Given the description of an element on the screen output the (x, y) to click on. 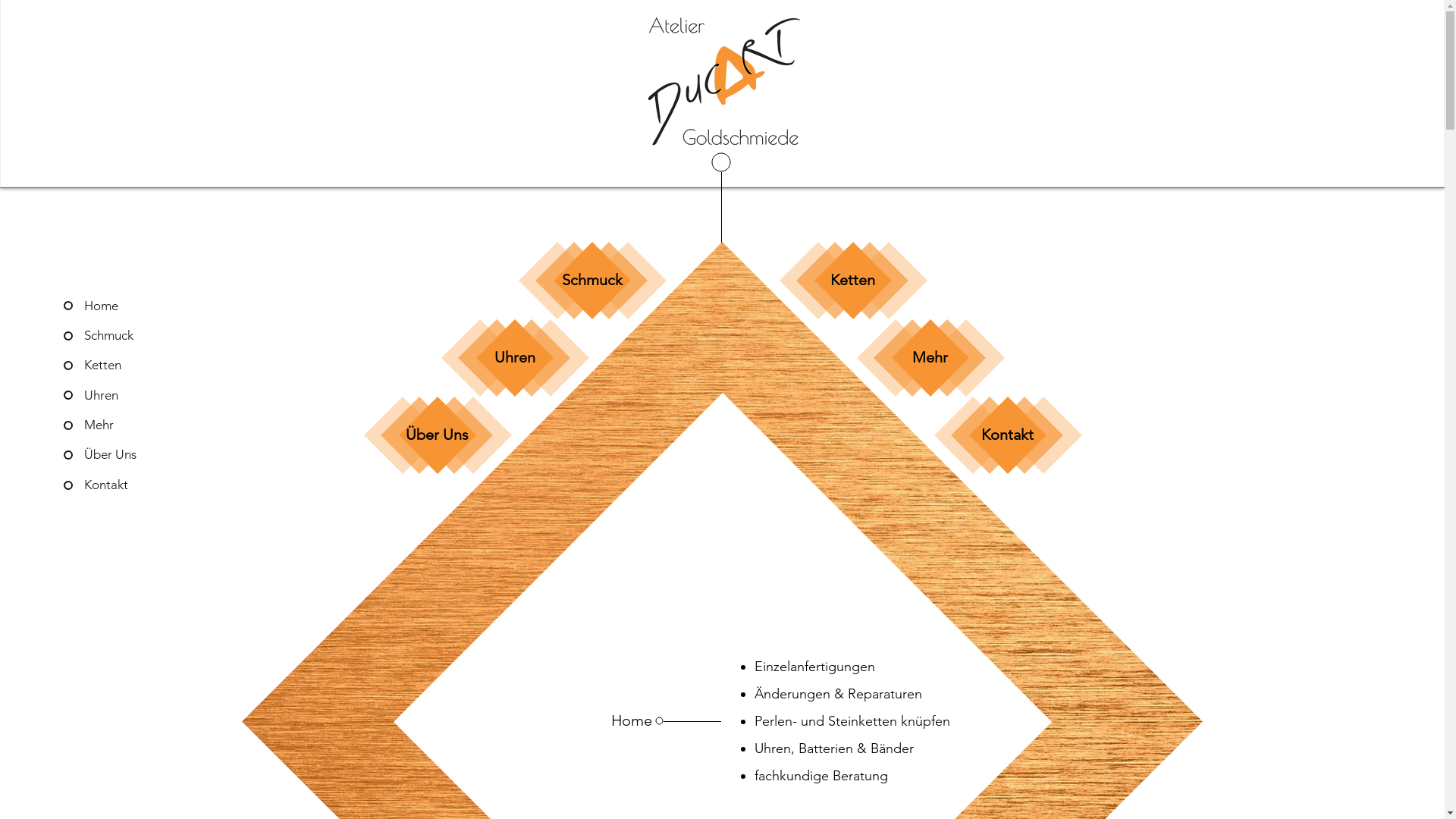
Mehr Element type: text (146, 425)
Ketten Element type: text (146, 365)
Ketten Element type: text (852, 278)
Schmuck Element type: text (146, 335)
Schmuck Element type: text (591, 278)
Kontakt Element type: text (146, 485)
Home Element type: text (146, 306)
Open for Business Element type: hover (1289, 415)
Uhren Element type: text (146, 395)
Kontakt Element type: text (1007, 433)
Uhren Element type: text (514, 355)
Mehr Element type: text (929, 355)
